Given the description of an element on the screen output the (x, y) to click on. 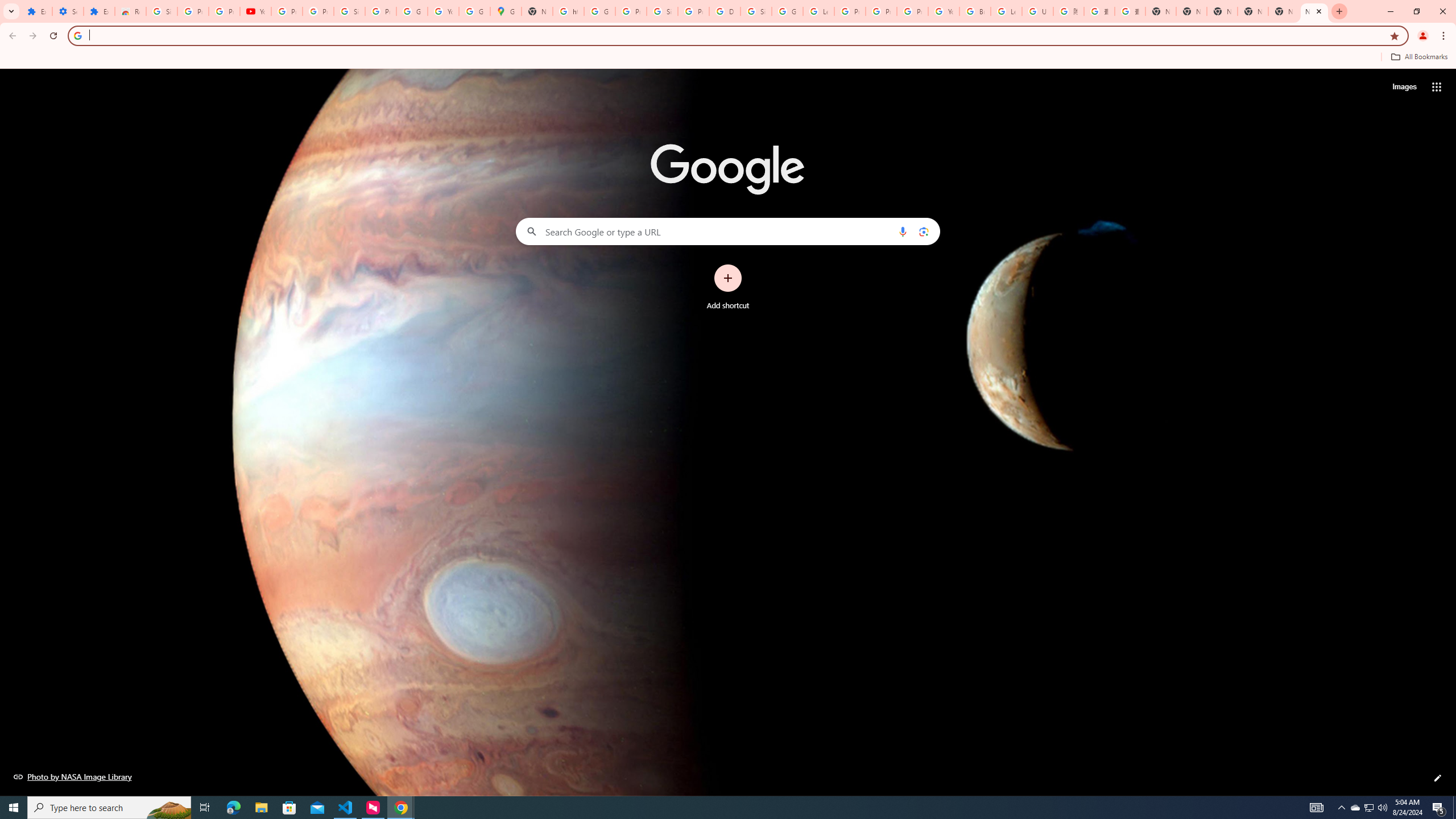
YouTube (255, 11)
Delete specific Google services or your Google Account (724, 11)
New Tab (1283, 11)
Privacy Help Center - Policies Help (849, 11)
Customize this page (1437, 778)
Add shortcut (727, 287)
